Given the description of an element on the screen output the (x, y) to click on. 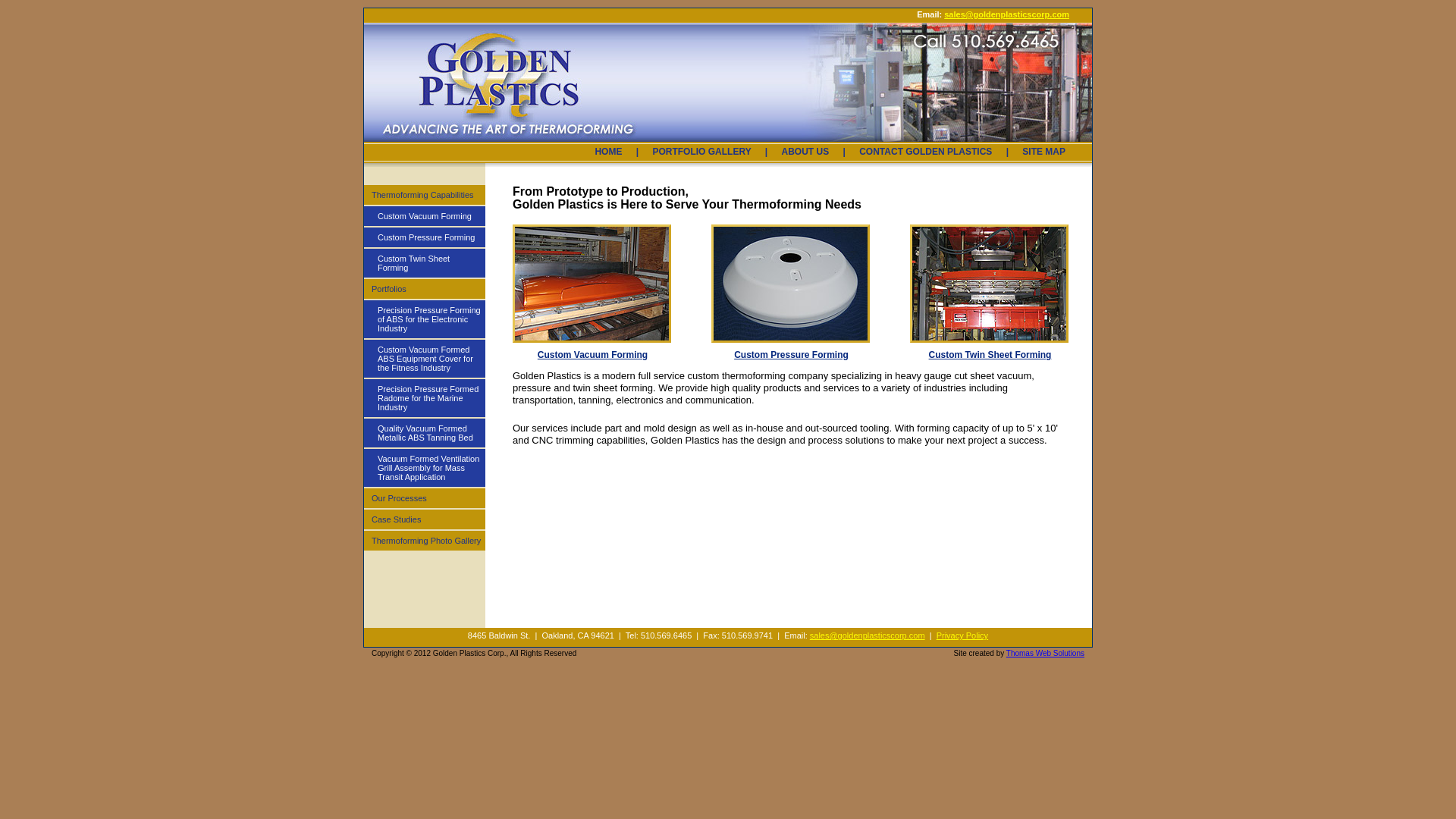
Privacy Policy (962, 634)
Custom Pressure Forming (790, 283)
Custom Vacuum Forming (591, 283)
Custom Pressure Forming (424, 237)
Custom Vacuum Forming (424, 216)
PORTFOLIO GALLERY (702, 151)
ABOUT US (805, 151)
HOME (608, 151)
Thermoforming Photo Gallery (424, 541)
Thermoforming Capabilities (424, 195)
Custom Pressure Forming (790, 351)
Thomas Web Solutions (1045, 653)
Custom Twin Sheet Forming (424, 263)
Portfolios (424, 289)
